Given the description of an element on the screen output the (x, y) to click on. 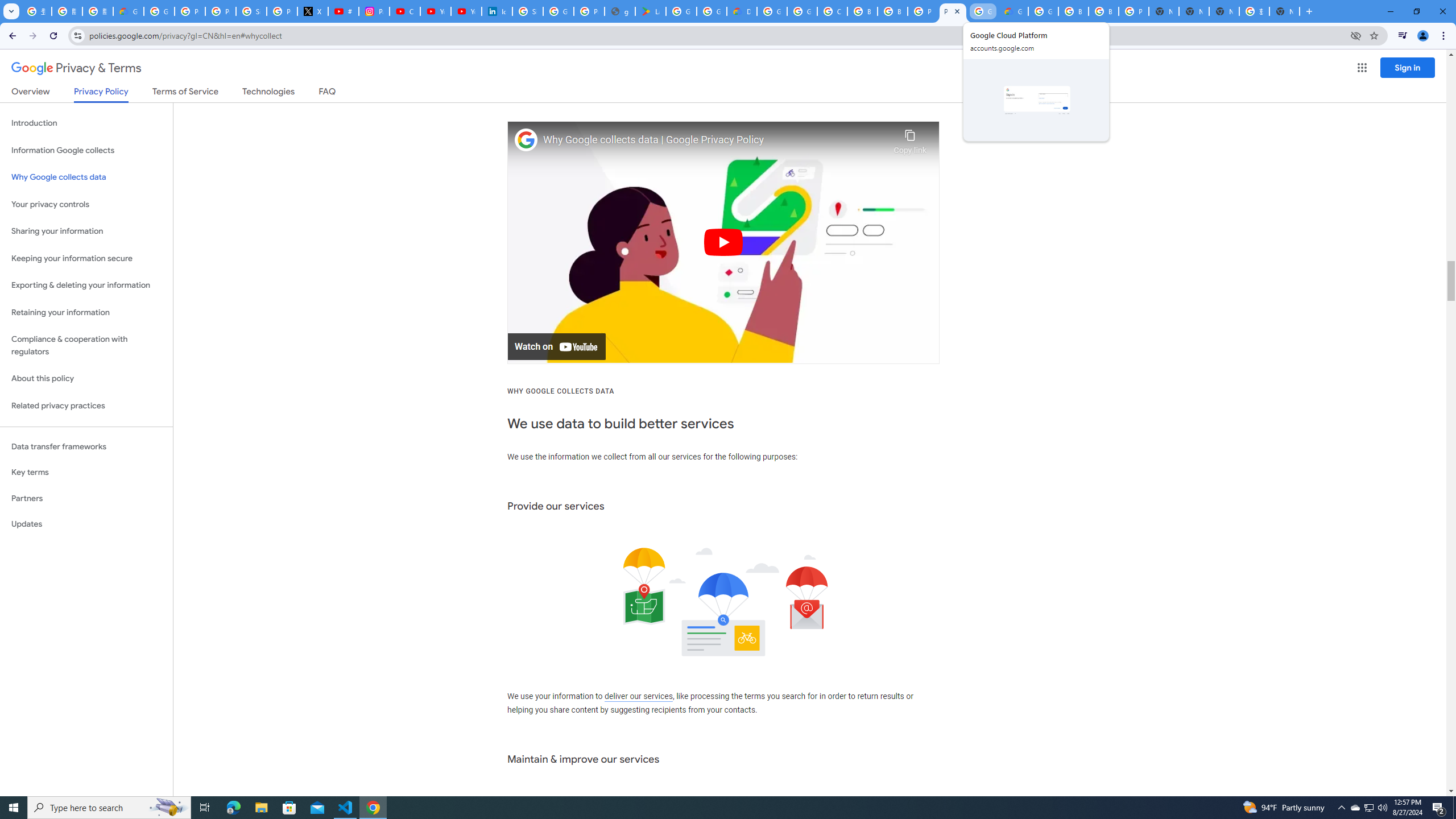
Why Google collects data | Google Privacy Policy (715, 140)
Control your music, videos, and more (1402, 35)
Sign in (1407, 67)
Data transfer frameworks (86, 446)
Sign in - Google Accounts (251, 11)
deliver our services (638, 696)
Privacy Policy (100, 94)
Sharing your information (86, 230)
google_privacy_policy_en.pdf (619, 11)
